Given the description of an element on the screen output the (x, y) to click on. 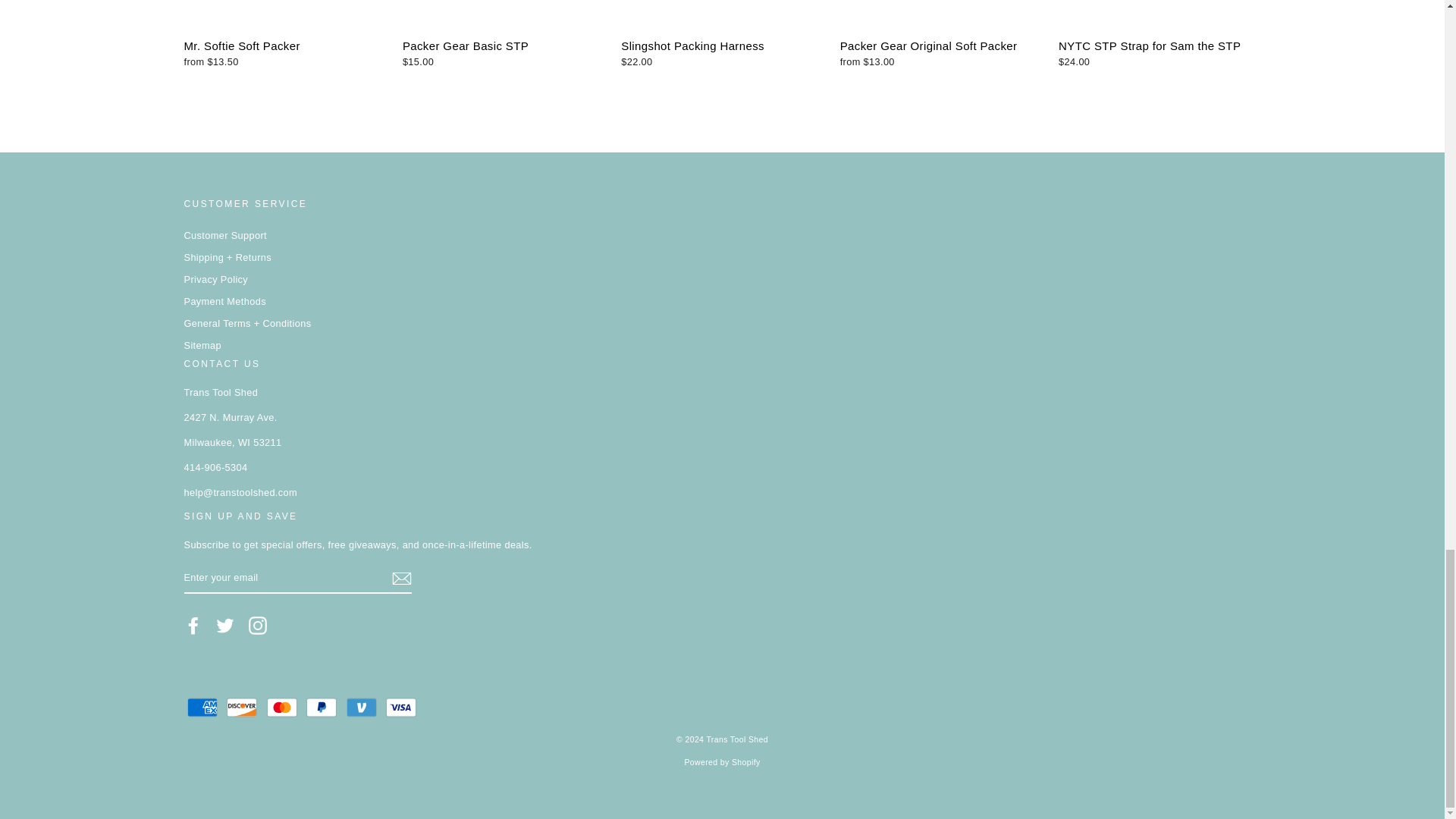
Trans Tool Shed on Twitter (224, 625)
Trans Tool Shed on Facebook (192, 625)
Trans Tool Shed on Instagram (257, 625)
American Express (201, 707)
